Given the description of an element on the screen output the (x, y) to click on. 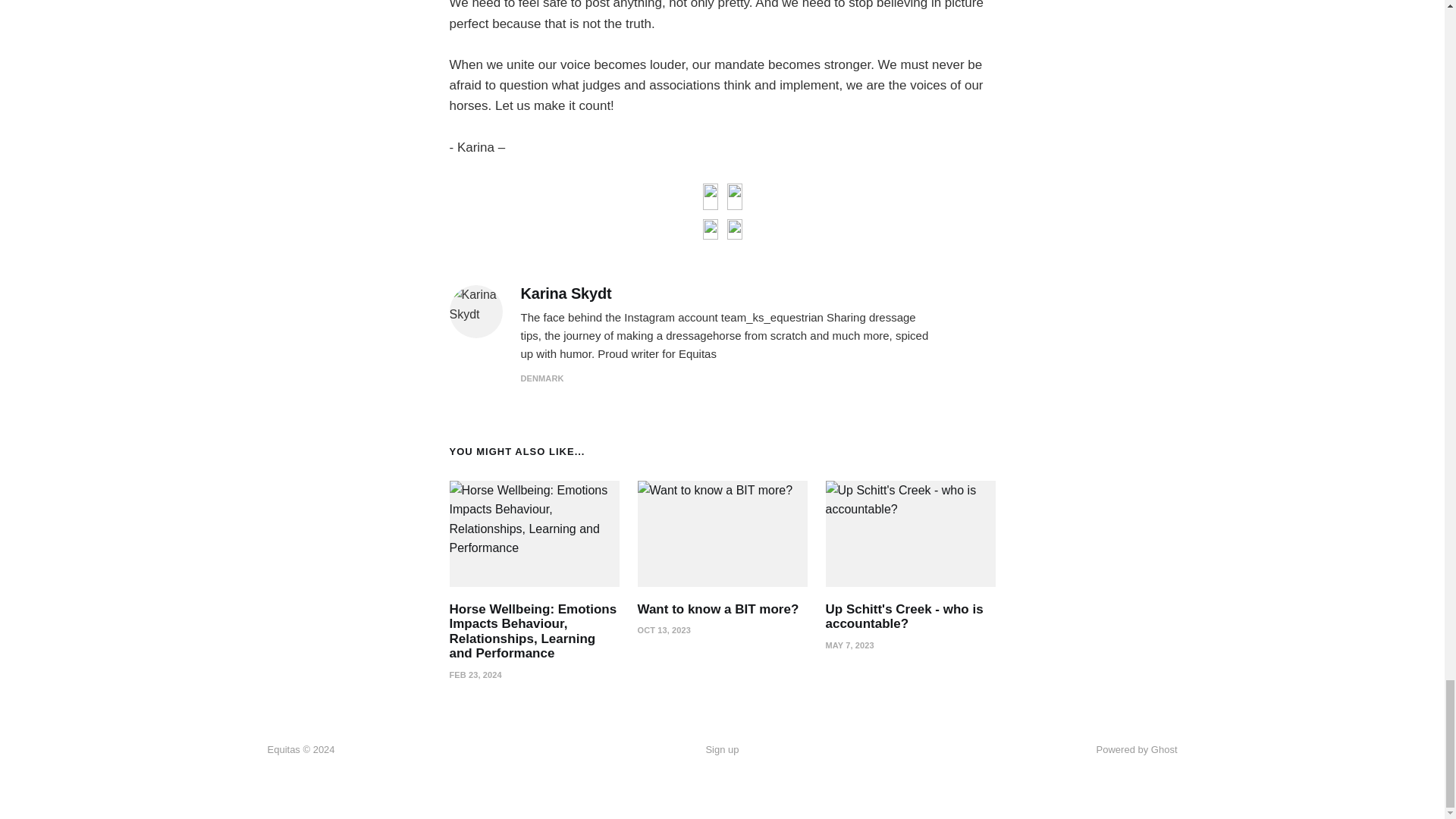
Karina Skydt (565, 293)
Powered by Ghost (1136, 749)
Want to know a BIT more? (717, 608)
Up Schitt's Creek - who is accountable? (903, 616)
Sign up (721, 750)
